Given the description of an element on the screen output the (x, y) to click on. 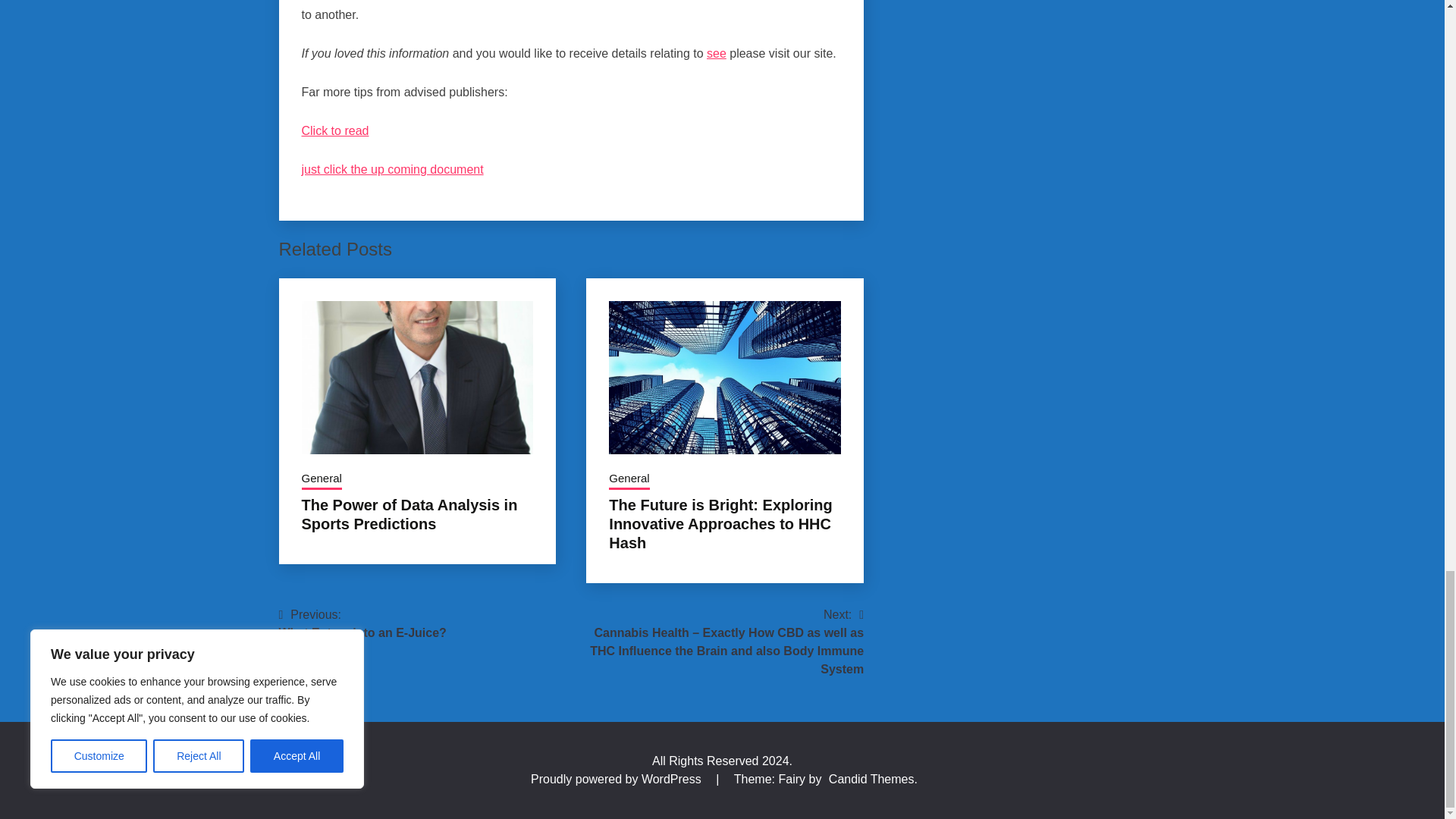
see (716, 52)
just click the up coming document (392, 169)
Click to read (335, 130)
General (321, 479)
The Power of Data Analysis in Sports Predictions (409, 514)
